Given the description of an element on the screen output the (x, y) to click on. 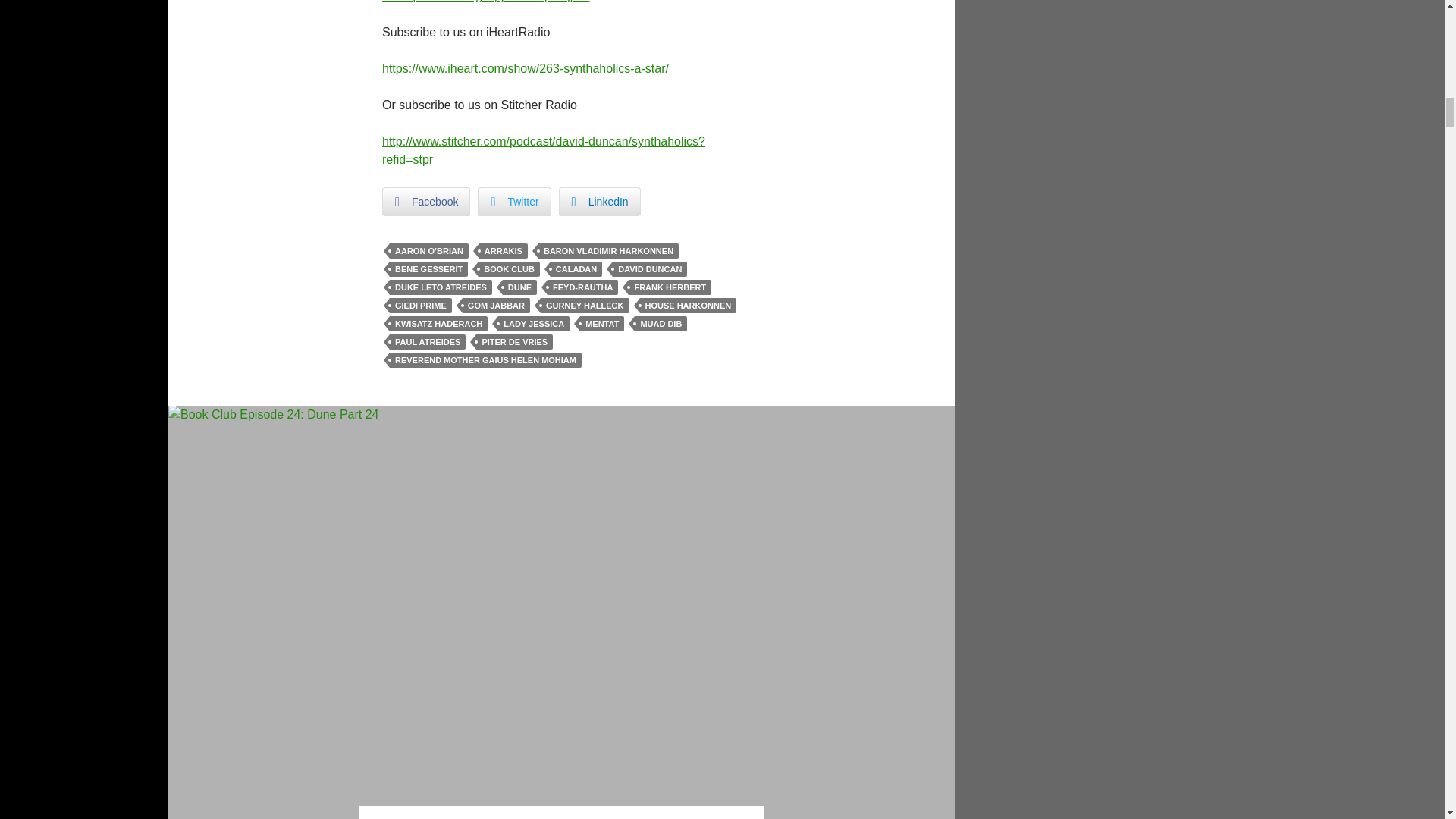
Facebook (425, 201)
BENE GESSERIT (428, 268)
BARON VLADIMIR HARKONNEN (608, 250)
ARRAKIS (503, 250)
Twitter (513, 201)
LinkedIn (599, 201)
